Given the description of an element on the screen output the (x, y) to click on. 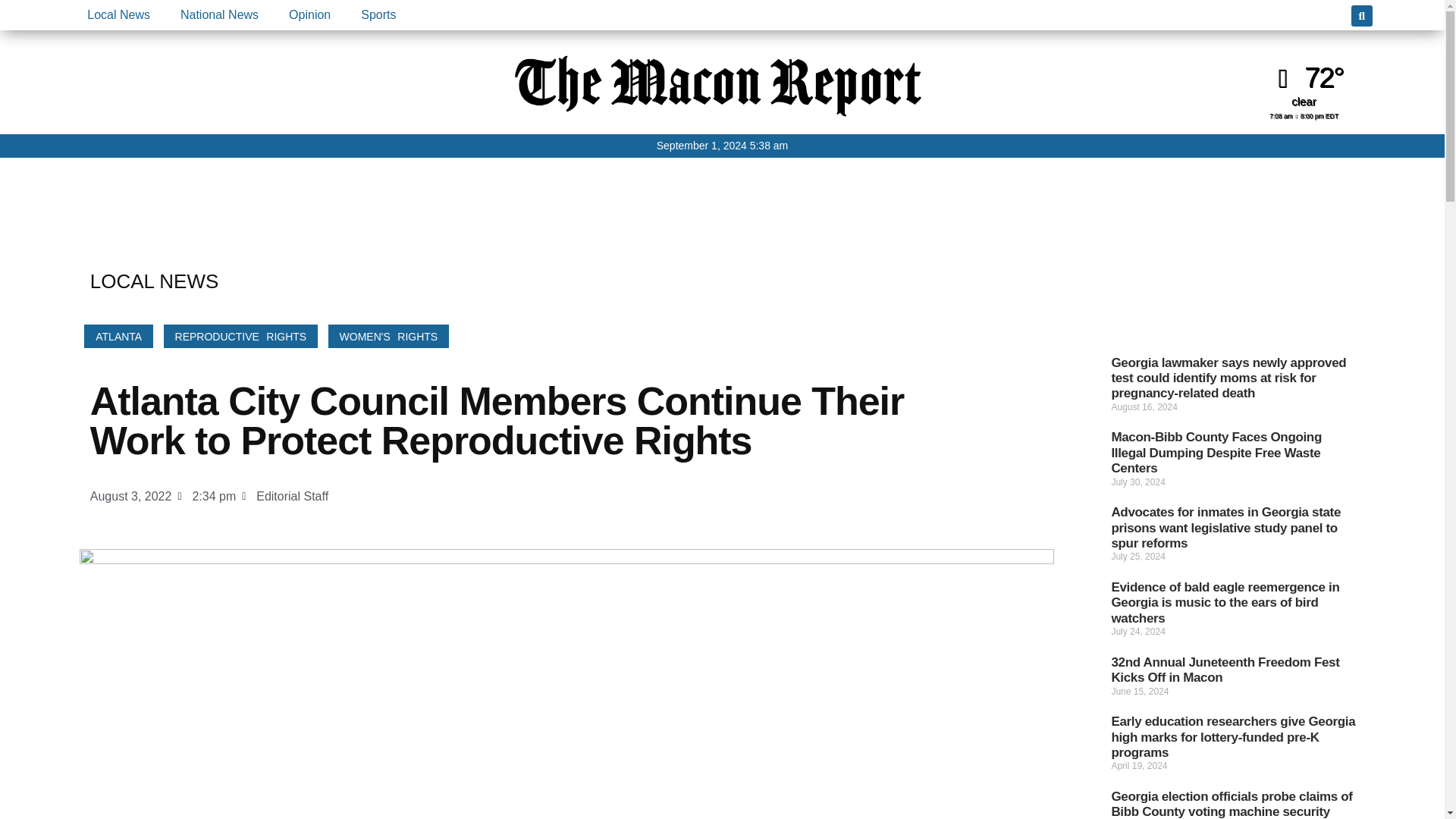
ATLANTA (118, 336)
WOMEN'S RIGHTS (389, 336)
Opinion (309, 14)
National News (219, 14)
Local News (118, 14)
REPRODUCTIVE RIGHTS (240, 336)
Sports (378, 14)
